Given the description of an element on the screen output the (x, y) to click on. 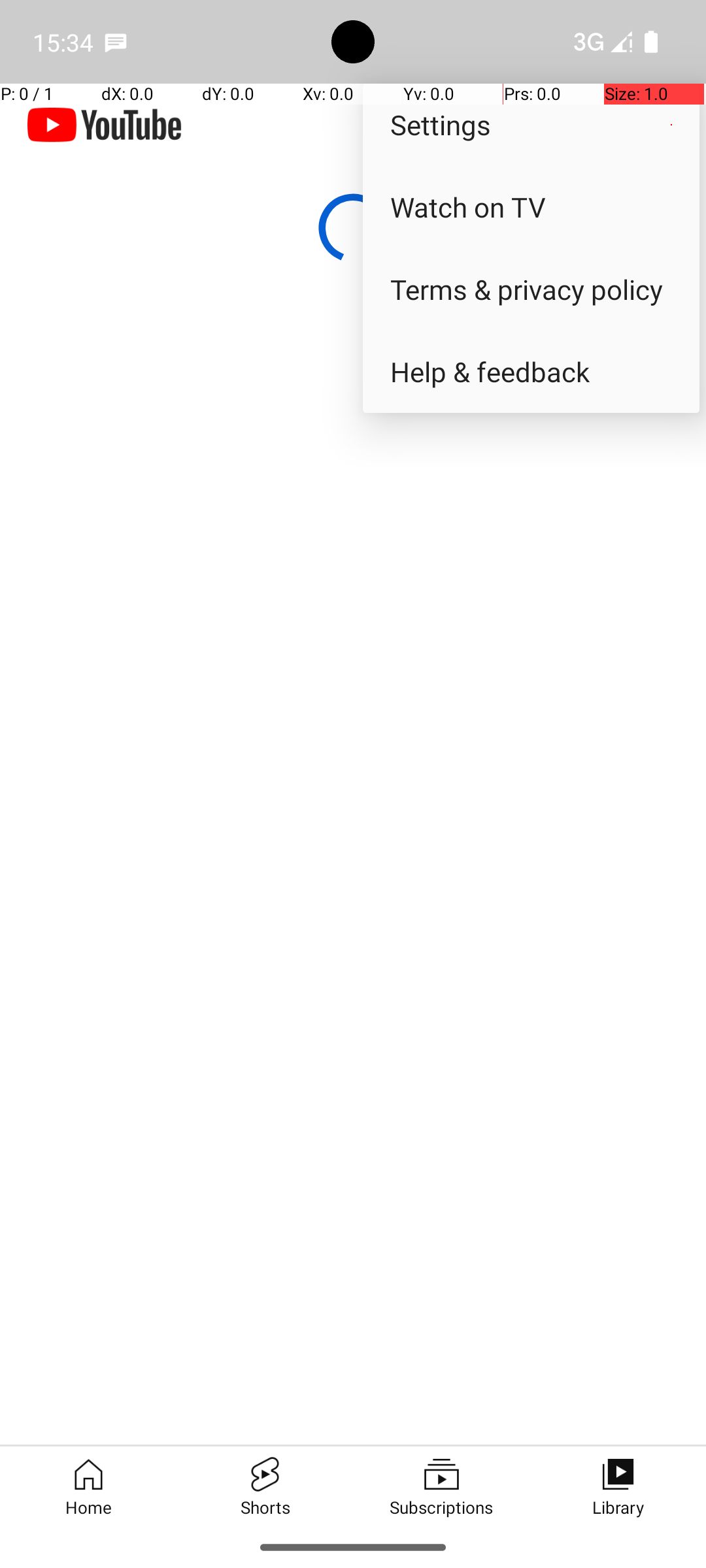
Watch on TV Element type: android.widget.TextView (531, 206)
Terms & privacy policy Element type: android.widget.TextView (531, 288)
